Given the description of an element on the screen output the (x, y) to click on. 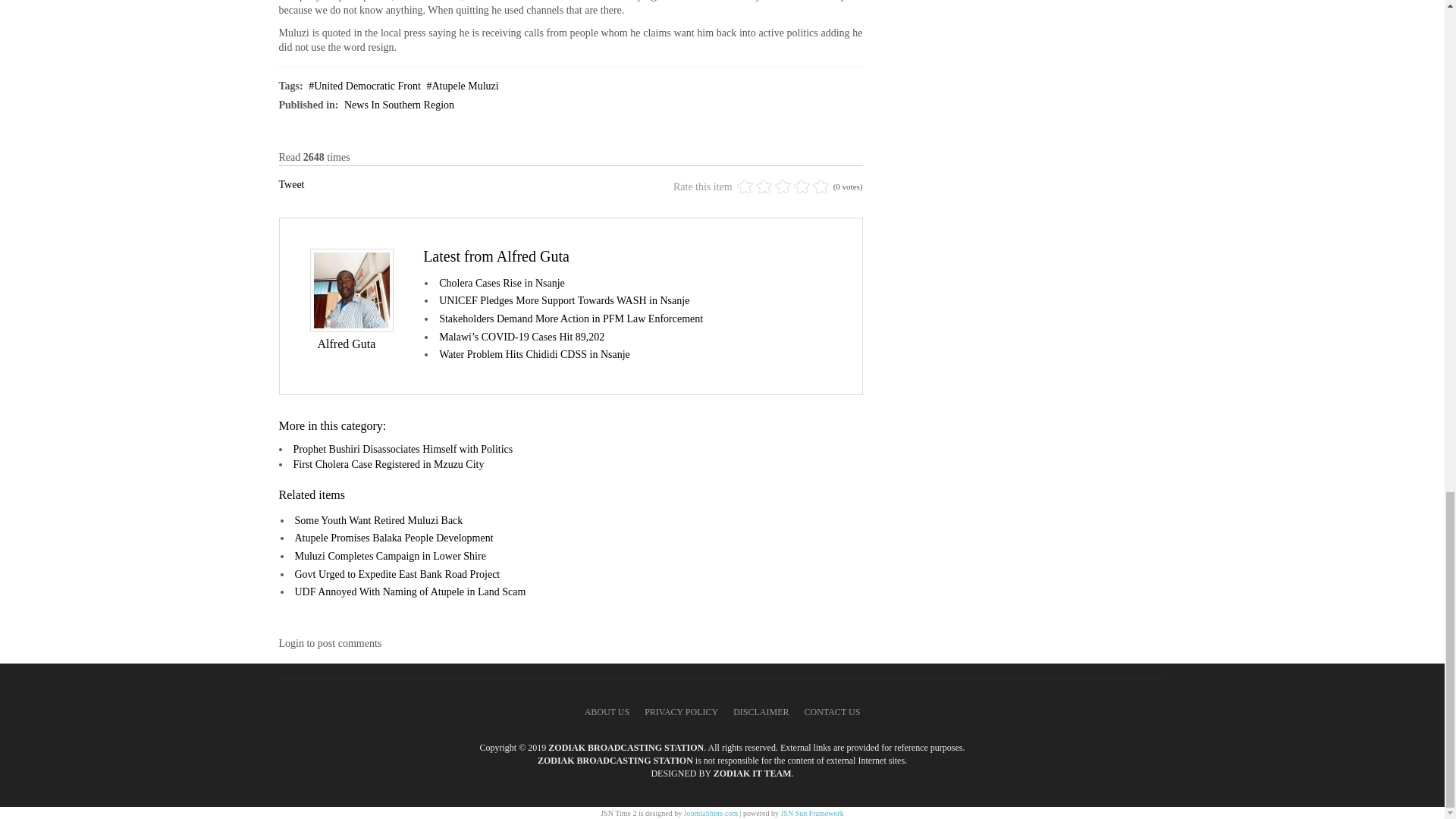
5 (782, 186)
JSN Sun Framework is the best Joomla template framework (811, 813)
Tweet (291, 184)
4 (772, 186)
1 (744, 186)
News In Southern Region (398, 104)
2 stars out of 5 (754, 186)
2 (754, 186)
Alfred Guta (346, 343)
3 stars out of 5 (763, 186)
4 stars out of 5 (772, 186)
Atupele Muluzi (461, 85)
United Democratic Front (364, 85)
3 (763, 186)
5 stars out of 5 (782, 186)
